Given the description of an element on the screen output the (x, y) to click on. 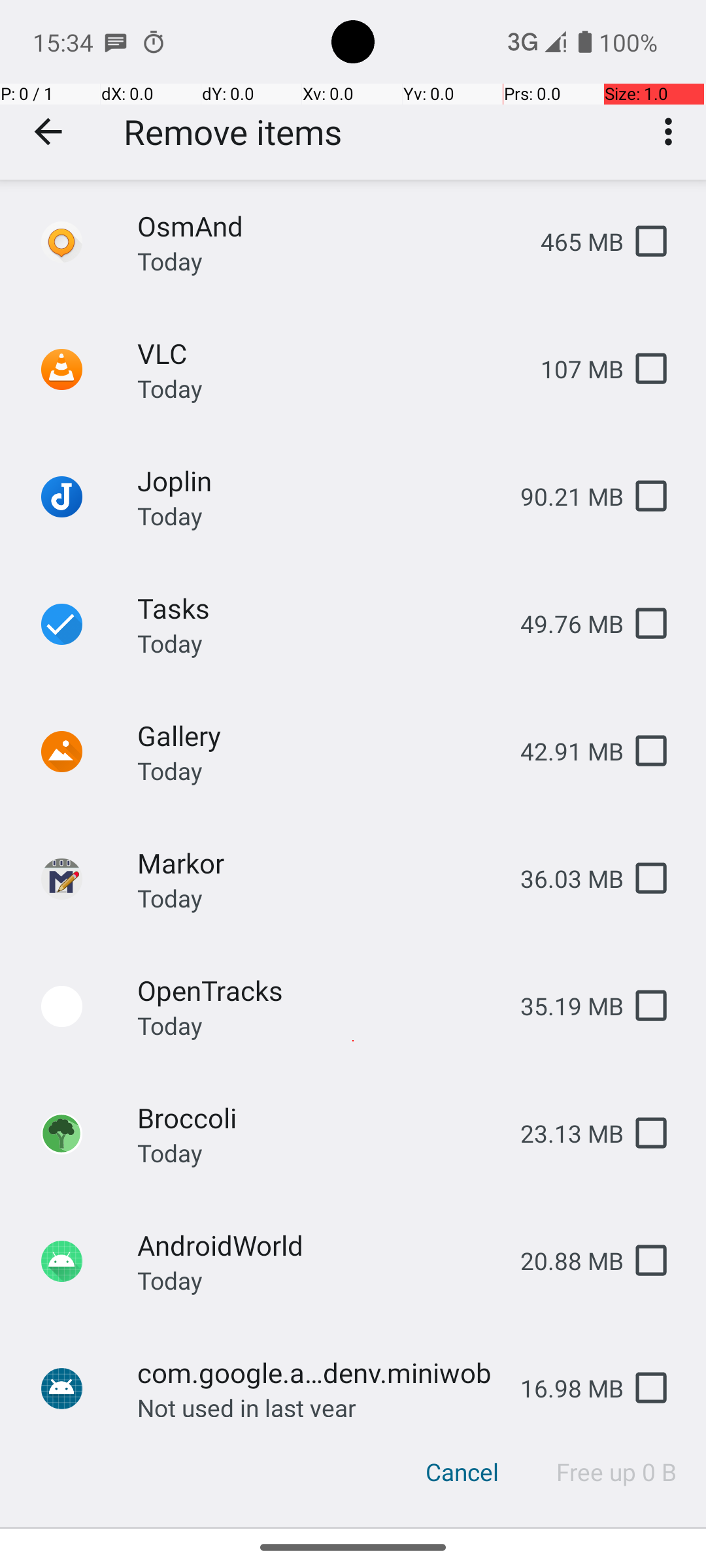
Remove items Element type: android.widget.TextView (232, 131)
Free up 0 B Element type: android.widget.Button (616, 1471)
OsmAnd Element type: android.widget.TextView (328, 225)
465 MB Element type: android.widget.TextView (571, 241)
107 MB Element type: android.widget.TextView (571, 368)
90.21 MB Element type: android.widget.TextView (561, 495)
49.76 MB Element type: android.widget.TextView (561, 623)
42.91 MB Element type: android.widget.TextView (561, 750)
36.03 MB Element type: android.widget.TextView (561, 878)
35.19 MB Element type: android.widget.TextView (561, 1005)
23.13 MB Element type: android.widget.TextView (561, 1132)
AndroidWorld Element type: android.widget.TextView (318, 1244)
20.88 MB Element type: android.widget.TextView (561, 1260)
com.google.androidenv.miniwob Element type: android.widget.TextView (318, 1371)
Not used in last year Element type: android.widget.TextView (246, 1403)
16.98 MB Element type: android.widget.TextView (561, 1387)
